Given the description of an element on the screen output the (x, y) to click on. 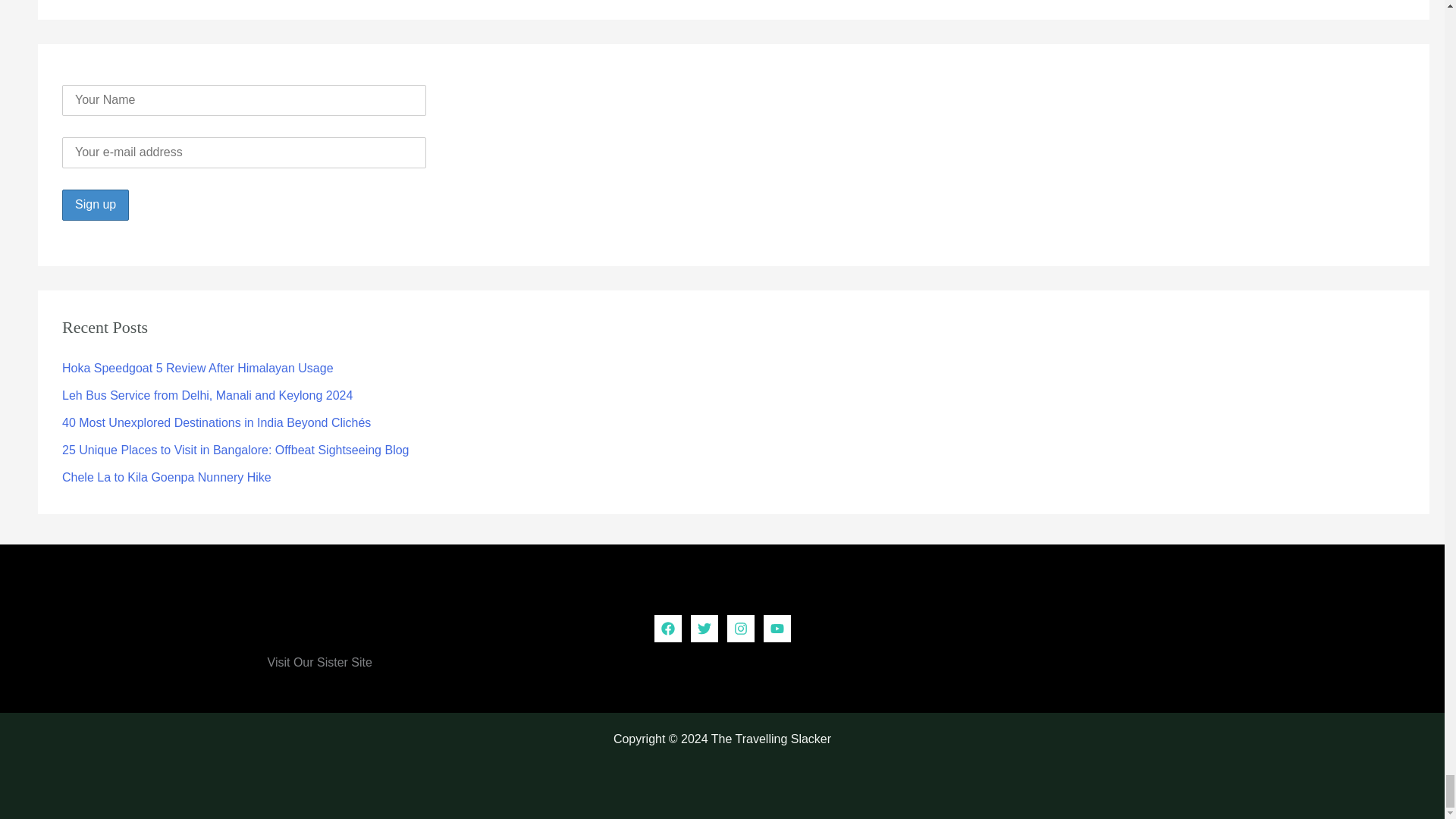
Sign up (95, 204)
